Given the description of an element on the screen output the (x, y) to click on. 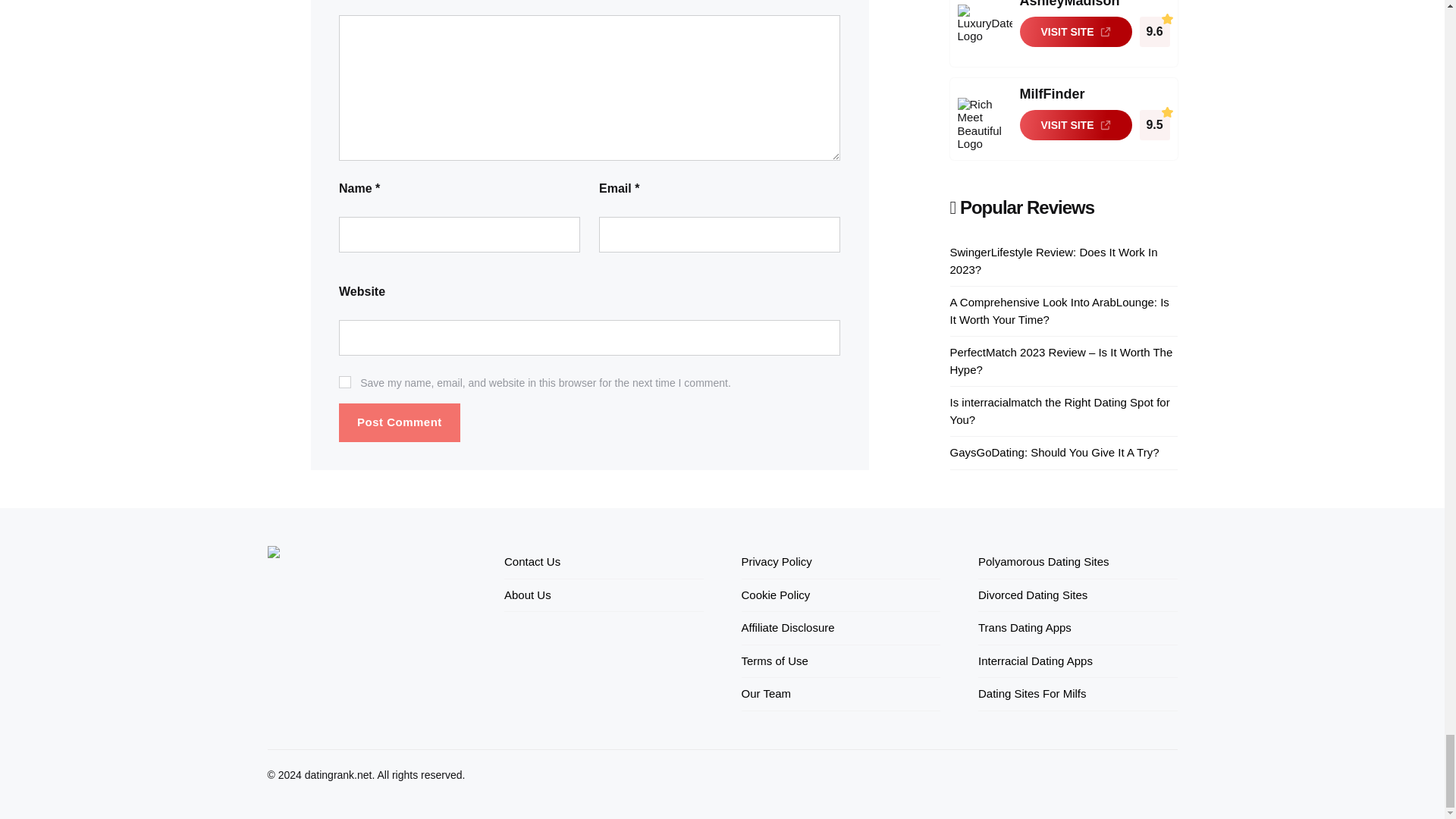
yes (344, 381)
Post Comment (399, 422)
